Given the description of an element on the screen output the (x, y) to click on. 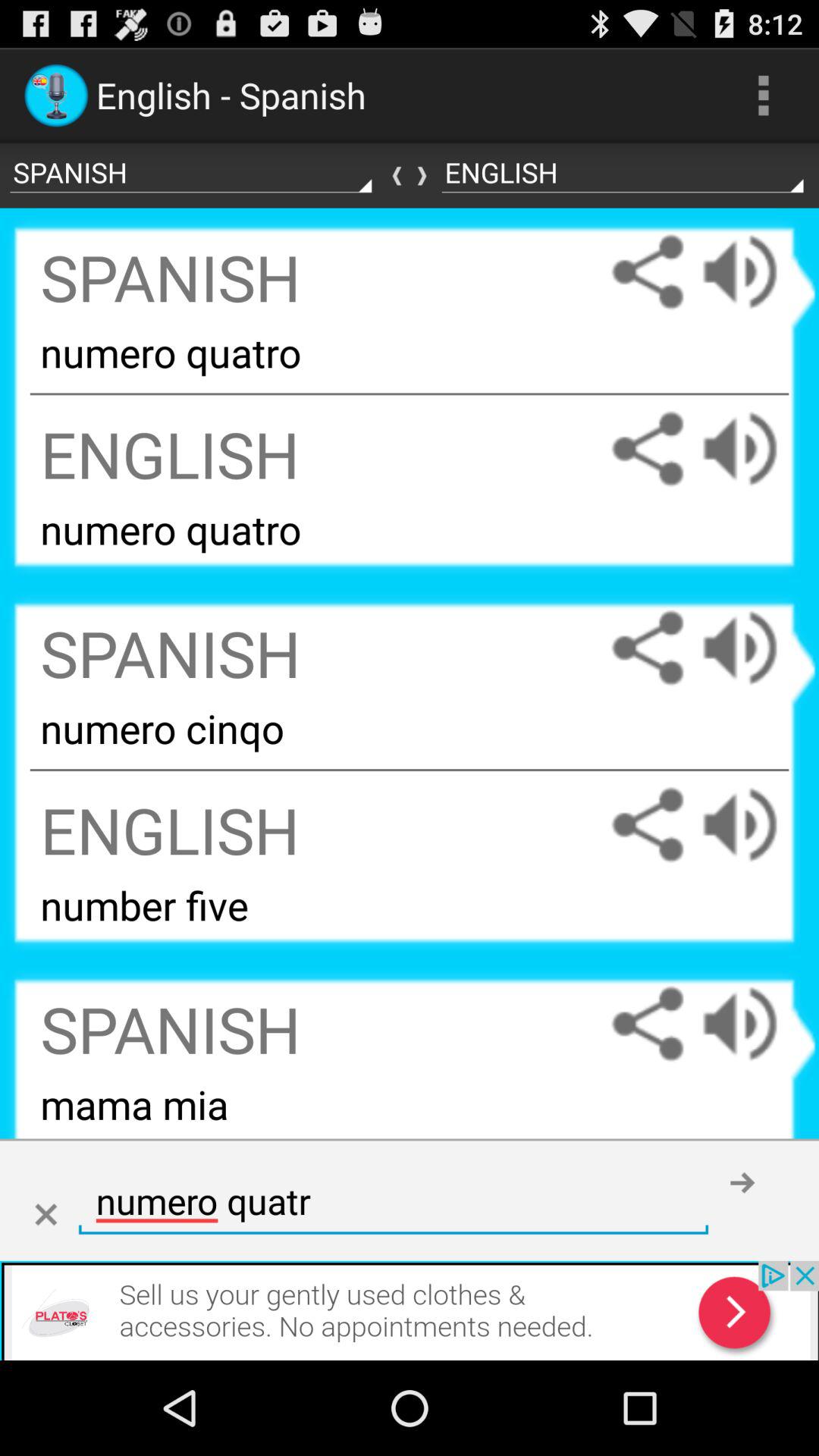
share the translation (647, 271)
